Given the description of an element on the screen output the (x, y) to click on. 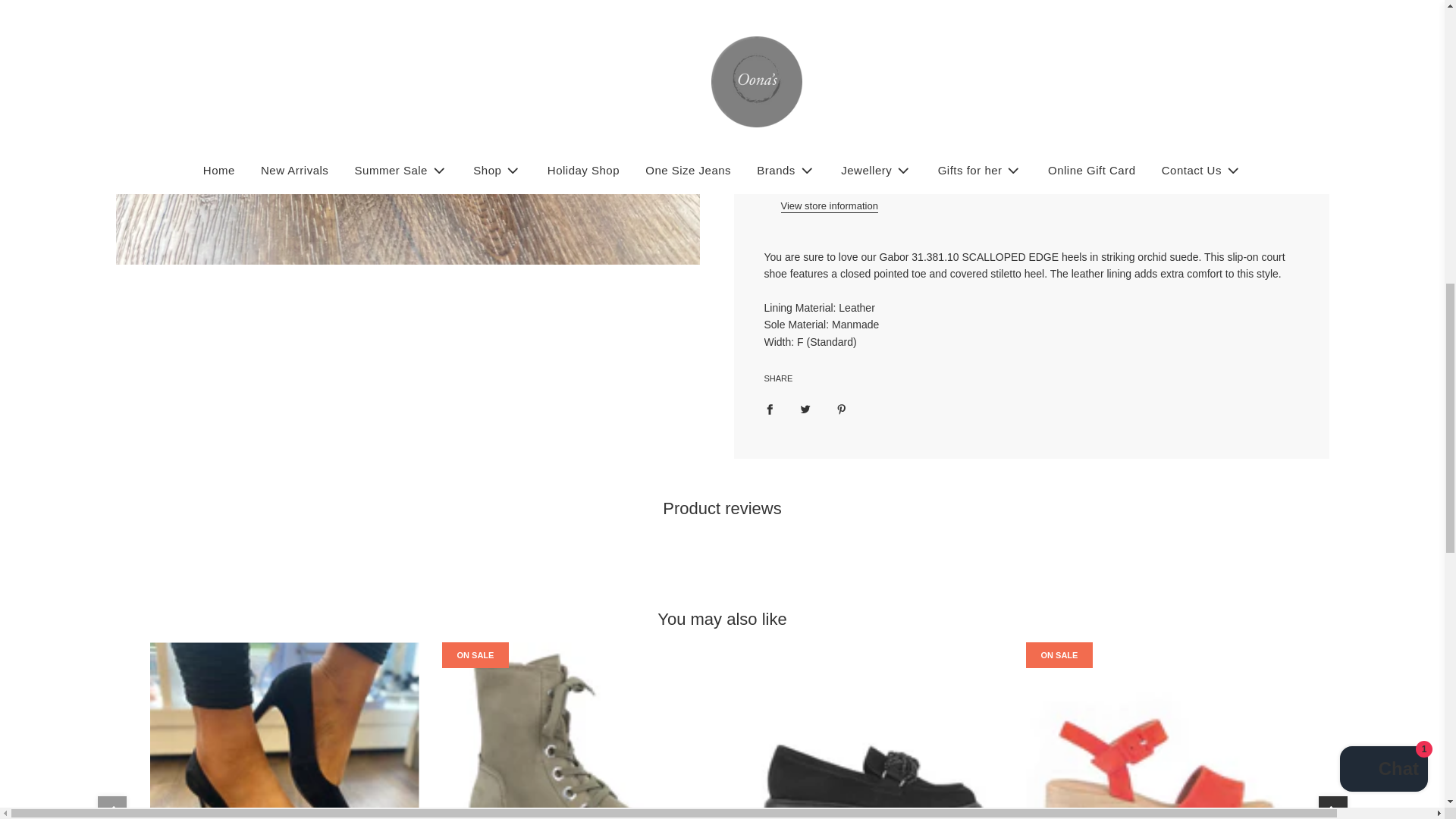
GABOR SUEDE PLATFORM SANDAL 44.531.13 (1159, 730)
GABOR 91.721.11 SUEDE BIKER BOOT (575, 730)
GABOR SUEDE HIGH HEEL 21.380.17 (284, 730)
Gabor Suede Loafer (868, 730)
